Given the description of an element on the screen output the (x, y) to click on. 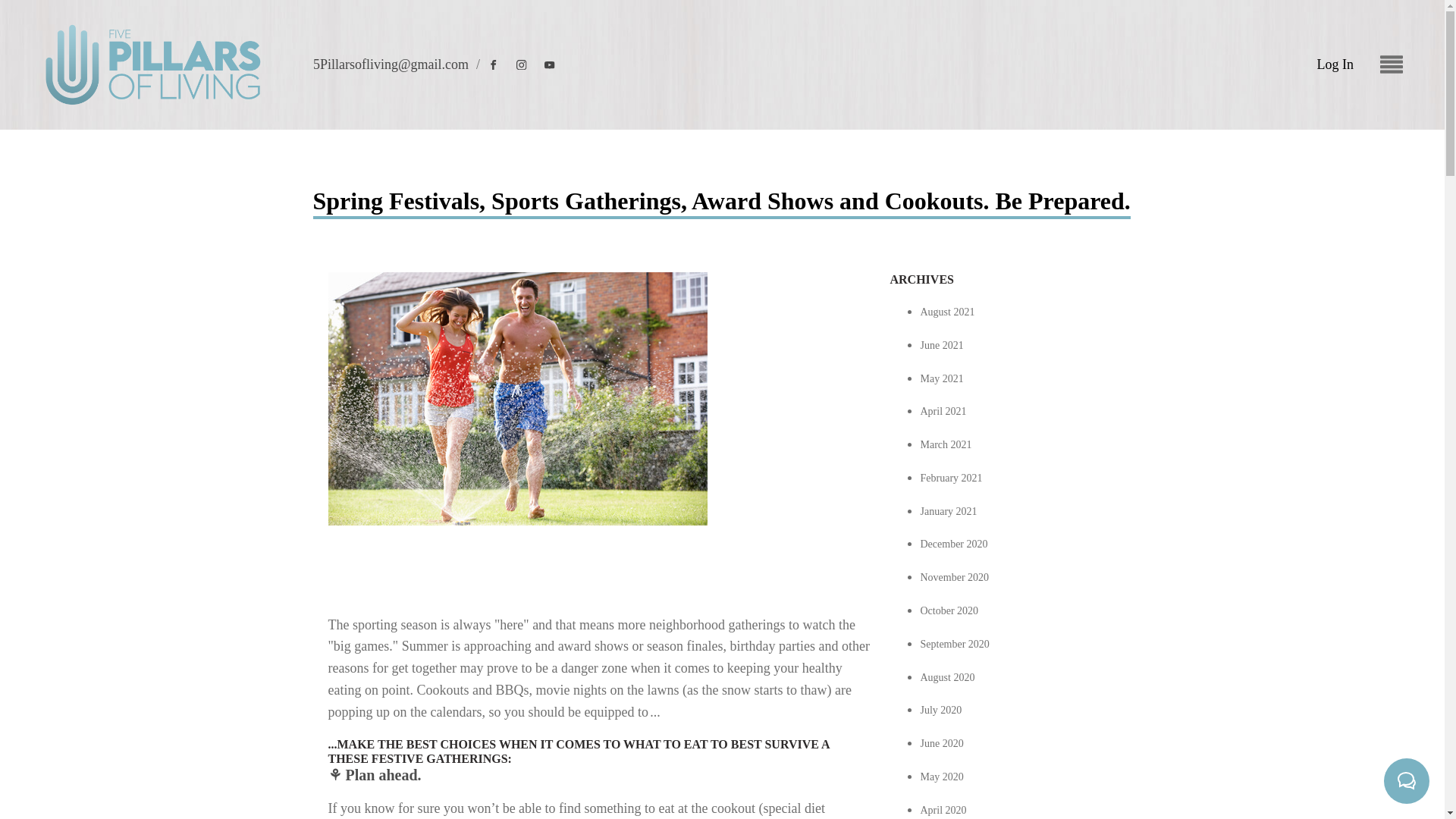
December 2020 (954, 543)
March 2021 (946, 444)
June 2021 (941, 345)
August 2021 (947, 311)
October 2020 (949, 610)
September 2020 (955, 644)
August 2020 (947, 677)
June 2020 (941, 743)
July 2020 (941, 709)
February 2021 (951, 478)
November 2020 (955, 577)
Log In (1335, 65)
April 2020 (943, 809)
January 2021 (948, 511)
May 2020 (941, 776)
